Given the description of an element on the screen output the (x, y) to click on. 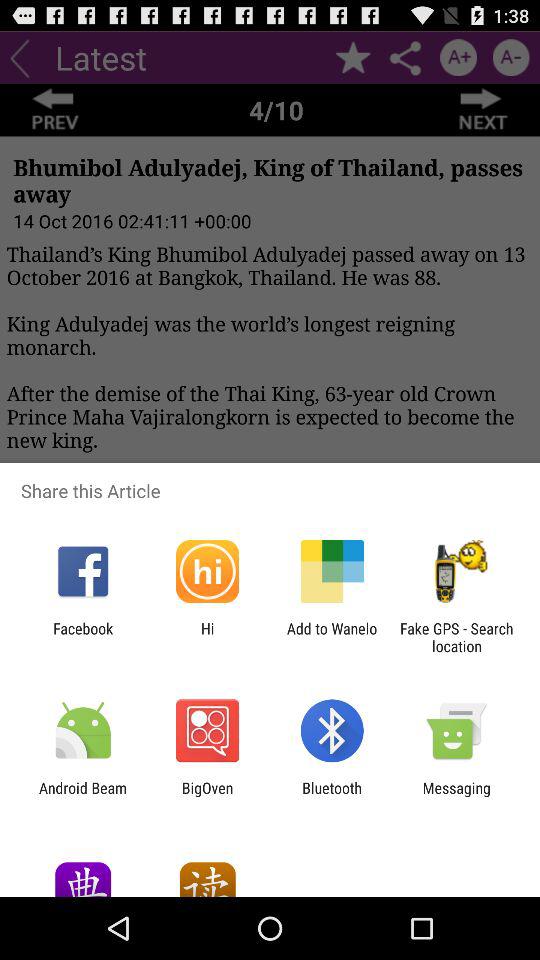
click icon to the left of add to wanelo app (207, 637)
